Given the description of an element on the screen output the (x, y) to click on. 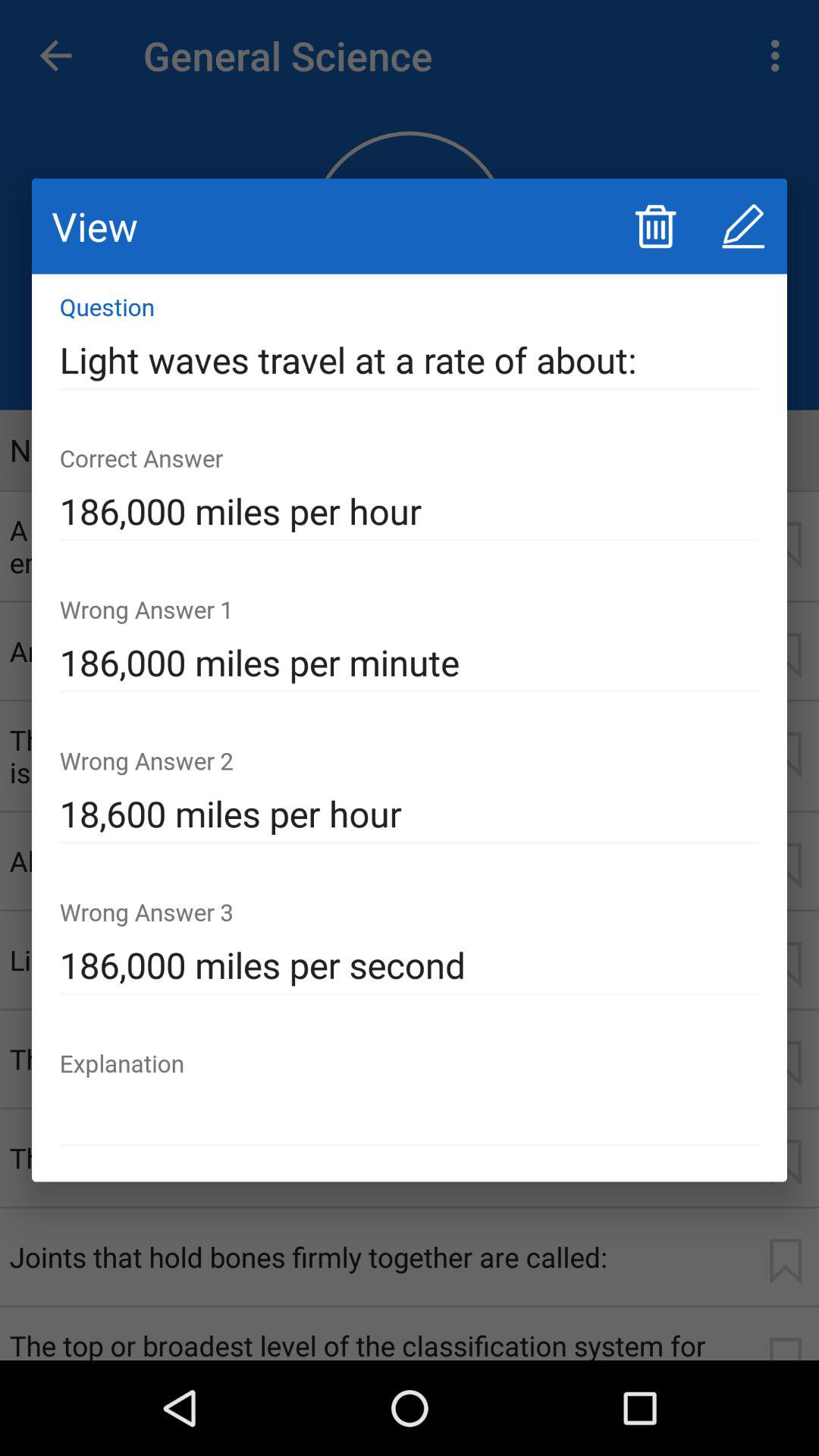
choose icon next to view icon (655, 226)
